Given the description of an element on the screen output the (x, y) to click on. 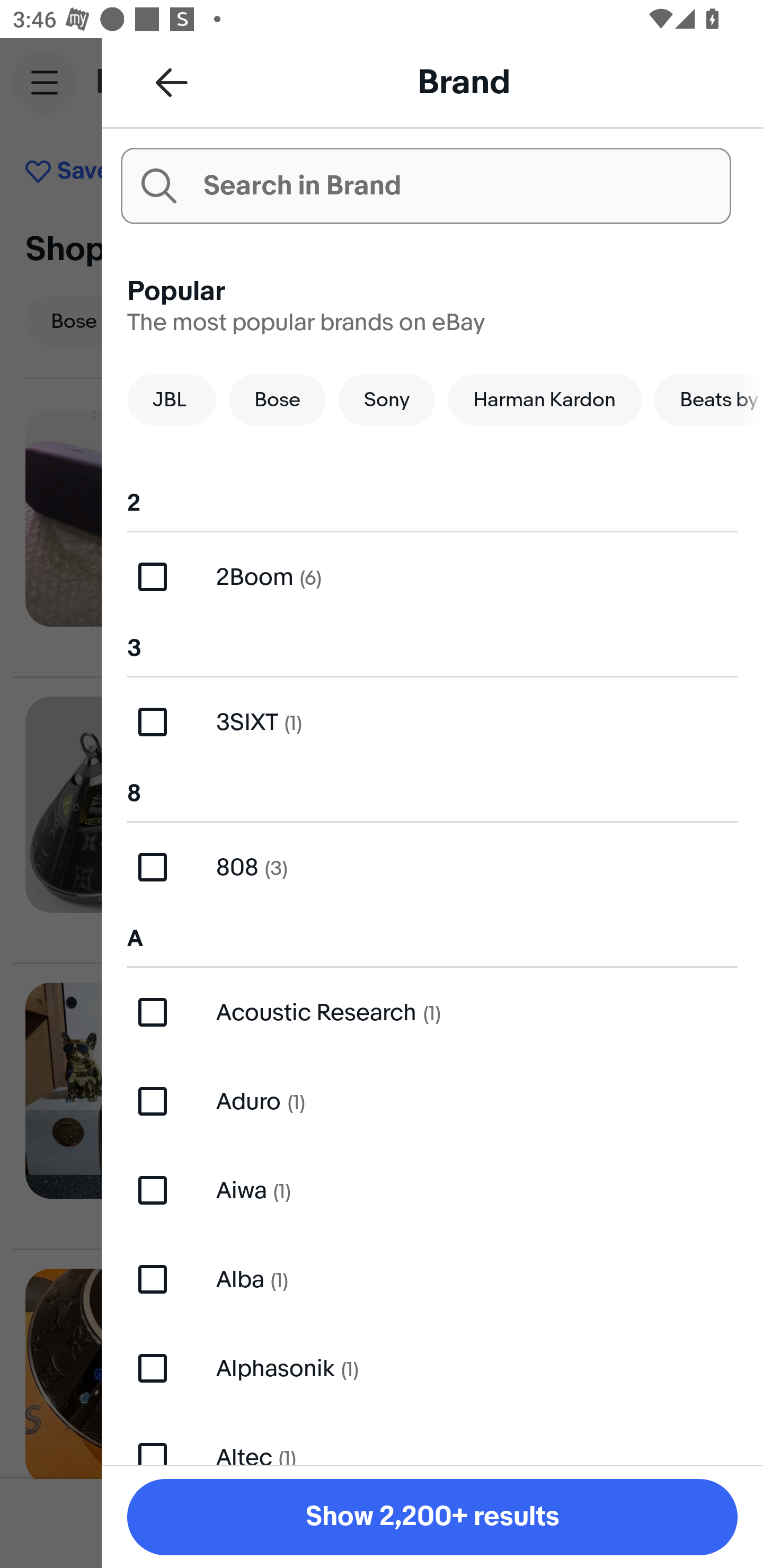
Back to all refinements (171, 81)
Search in Brand (425, 185)
JBL (171, 399)
Bose (276, 399)
Sony (386, 399)
Harman Kardon (544, 399)
Beats by Dr. Dre (708, 399)
2Boom (6) (432, 576)
3SIXT (1) (432, 721)
808 (3) (432, 867)
Acoustic Research (1) (432, 1011)
Aduro (1) (432, 1101)
Aiwa (1) (432, 1190)
Alba (1) (432, 1279)
Alphasonik (1) (432, 1367)
Altec (1) (432, 1438)
Show 2,200+ results (432, 1516)
